Given the description of an element on the screen output the (x, y) to click on. 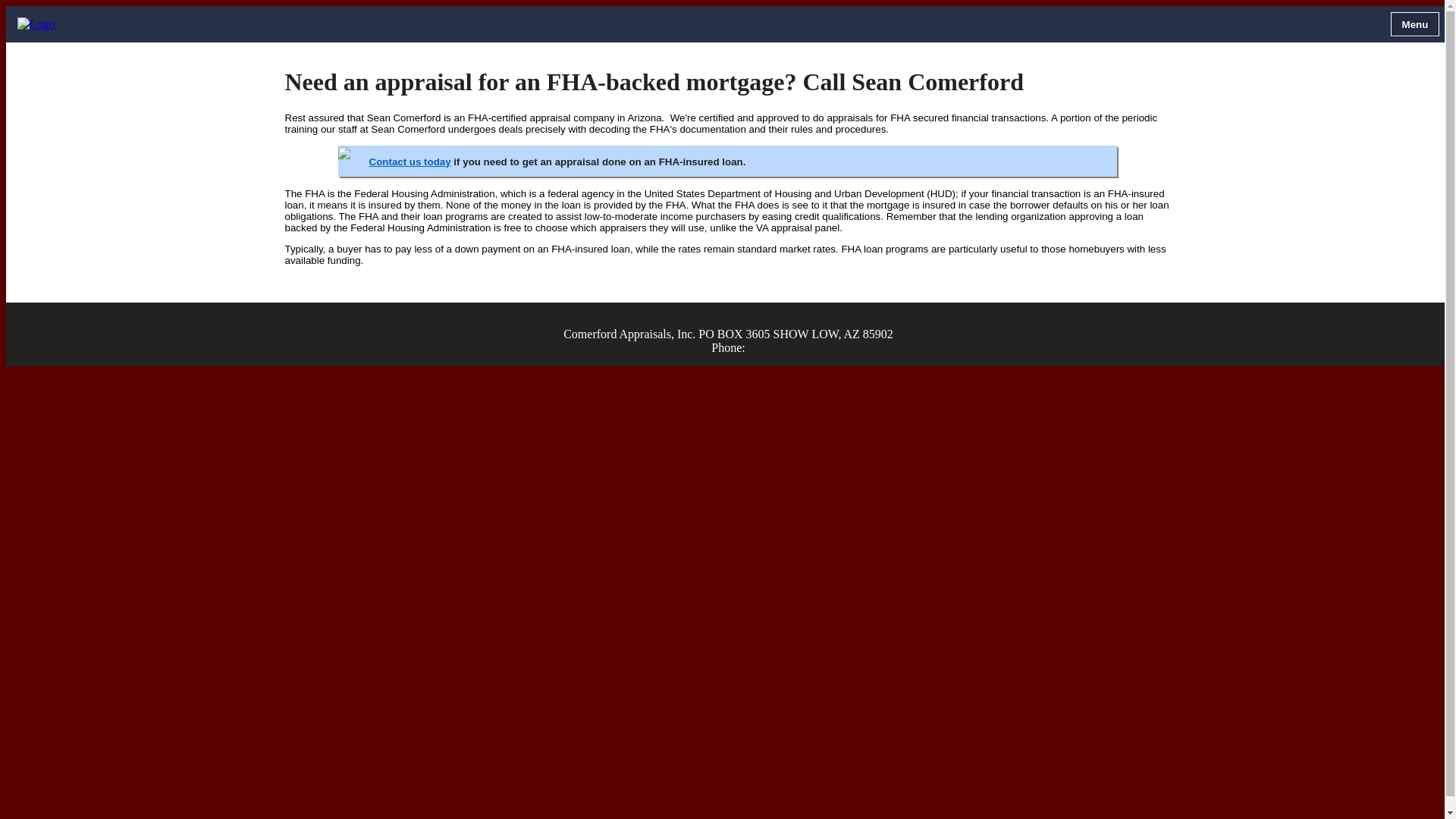
Menu (1414, 24)
Contact us today (410, 161)
